Given the description of an element on the screen output the (x, y) to click on. 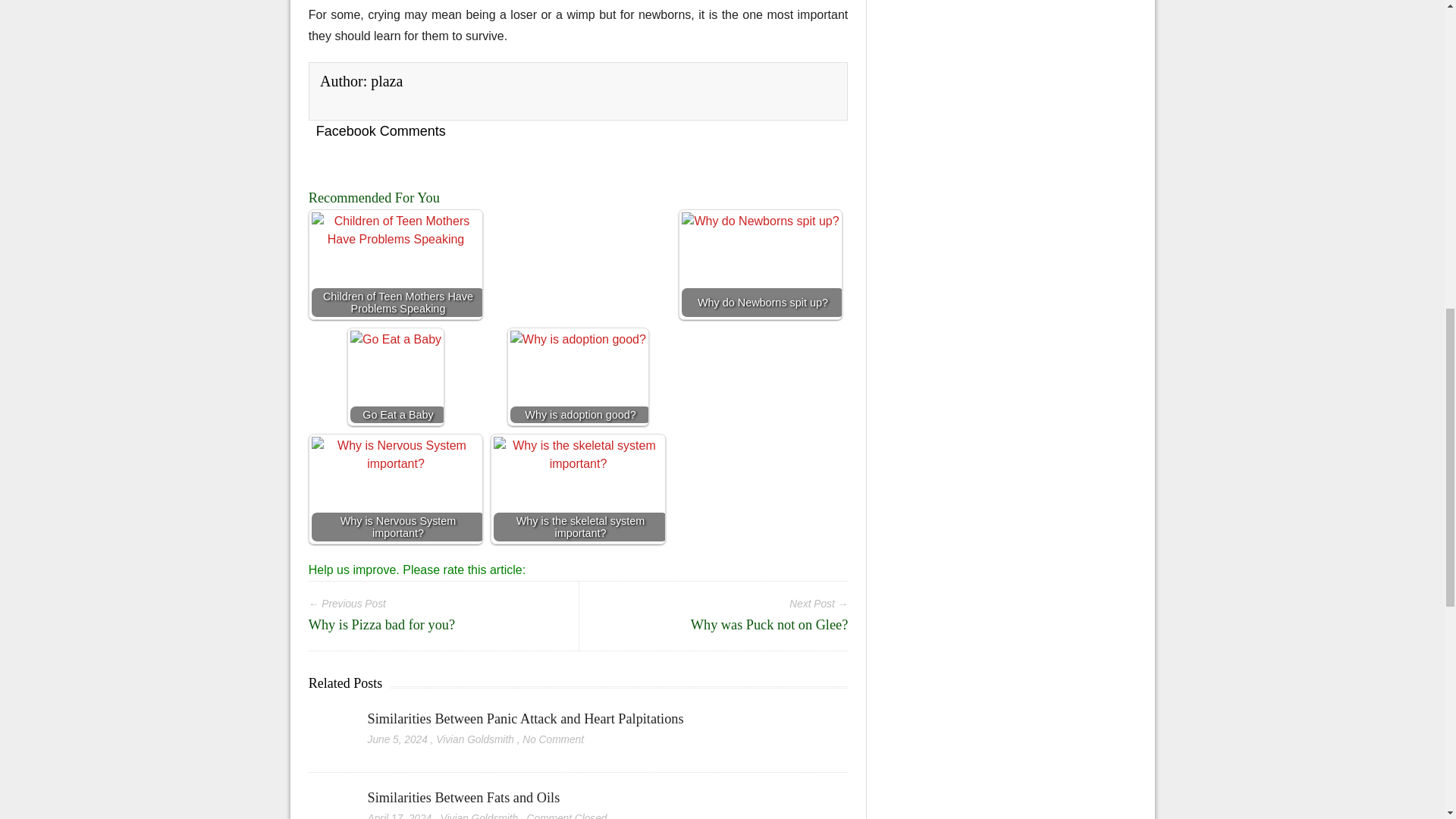
Similarities Between Fats and Oils (329, 798)
Similarities Between Fats and Oils (464, 797)
Vivian Goldsmith (474, 739)
Why is adoption good? (578, 381)
Why do Newborns spit up? (760, 264)
Posts by Vivian Goldsmith (479, 816)
Why is the skeletal system important? (577, 499)
Go Eat a Baby (395, 376)
Why is adoption good? (577, 376)
Vivian Goldsmith (479, 816)
